Given the description of an element on the screen output the (x, y) to click on. 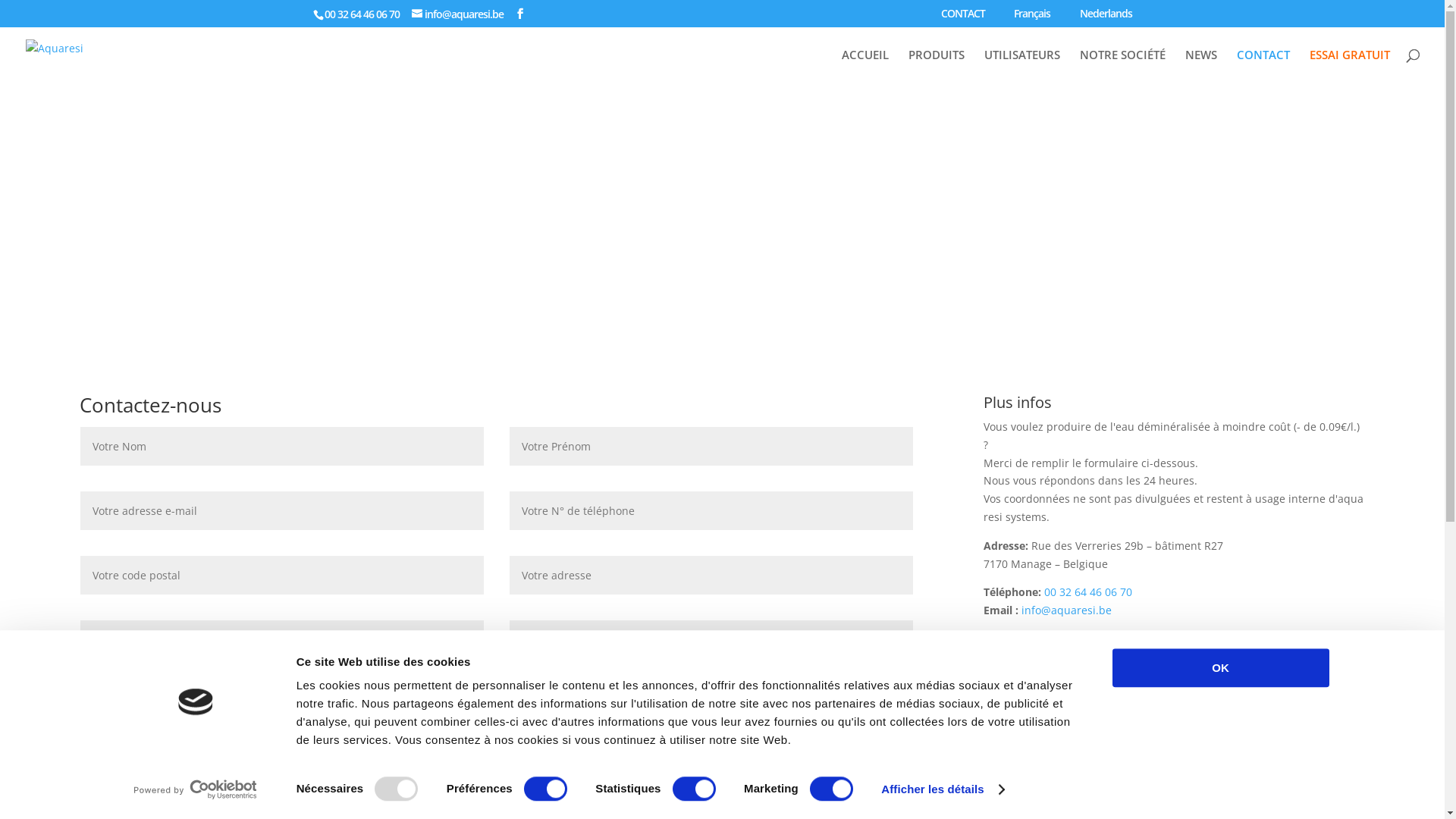
OK Element type: text (1219, 667)
info@aquaresi.be Element type: text (1066, 609)
info@aquaresi.be Element type: text (456, 13)
CONTACT Element type: text (963, 16)
ESSAI GRATUIT Element type: text (1349, 67)
NEWS Element type: text (1201, 67)
00 32 64 46 06 70 Element type: text (1088, 591)
Nederlands Element type: text (1097, 16)
UTILISATEURS Element type: text (1022, 67)
PRODUITS Element type: text (936, 67)
ACCUEIL Element type: text (864, 67)
CONTACT Element type: text (1262, 67)
